Given the description of an element on the screen output the (x, y) to click on. 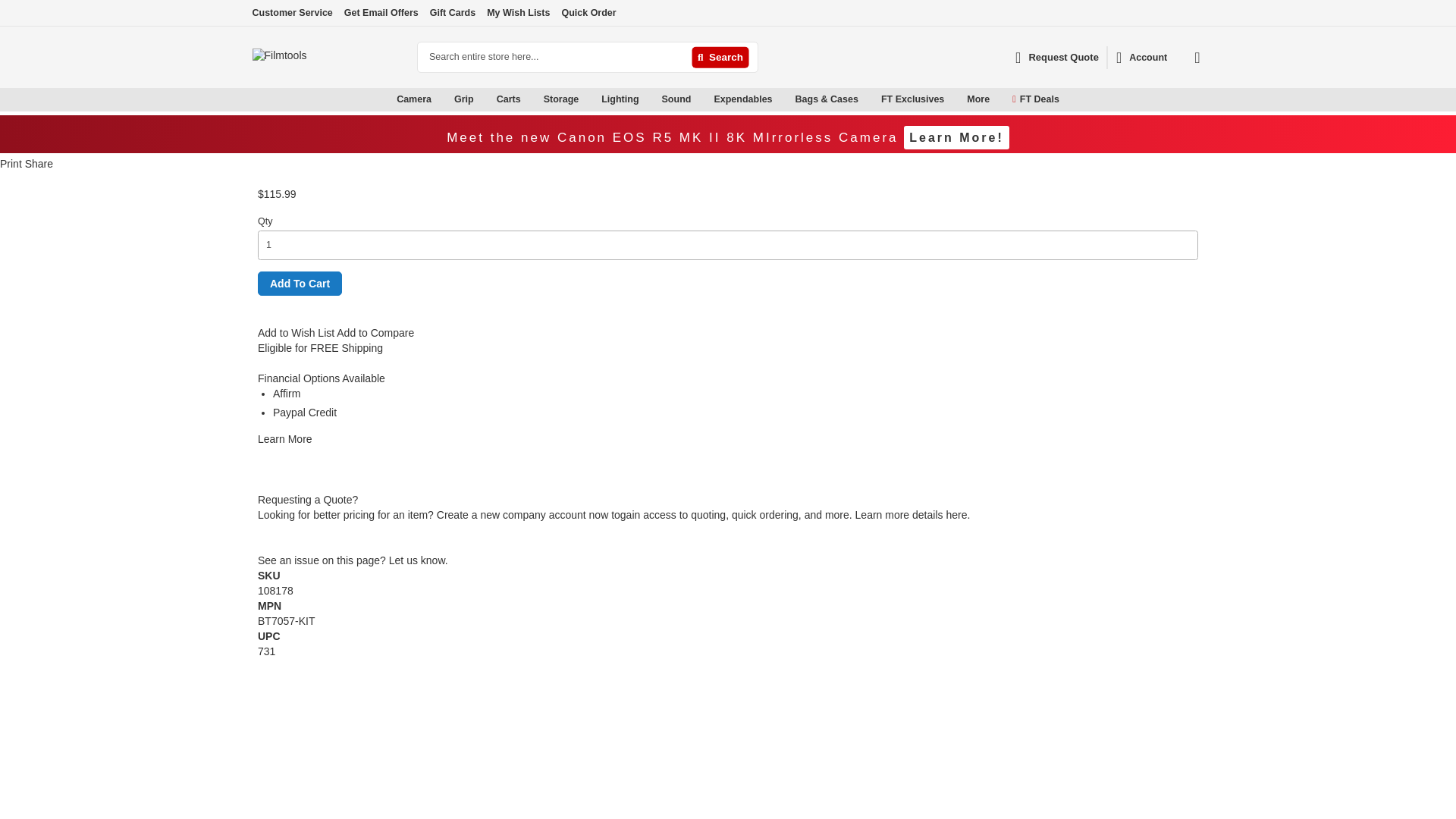
Get Email Offers (381, 12)
Request Quote (1056, 56)
Report Issue (352, 560)
Print (10, 163)
Professional Cine Cameras (336, 116)
My Wish Lists (518, 12)
Qty (727, 245)
Gift Cards (452, 12)
Quick Order (587, 12)
Cameras (336, 116)
Share (38, 163)
Search (719, 57)
Filmtools (327, 57)
Search (719, 57)
1 (727, 245)
